Given the description of an element on the screen output the (x, y) to click on. 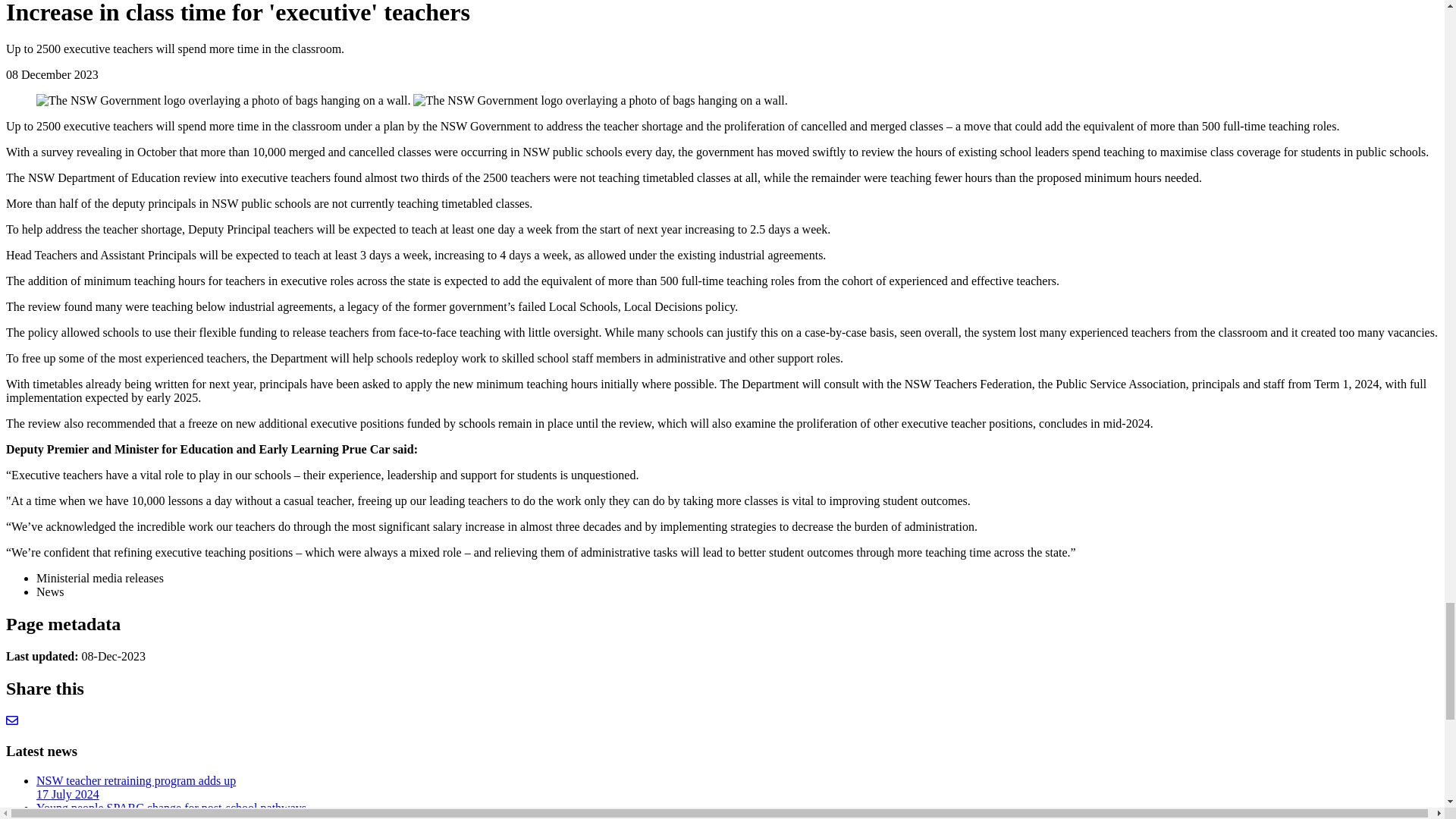
nsw-department-of-education-two (600, 100)
nsw-department-of-education-two (223, 100)
